Given the description of an element on the screen output the (x, y) to click on. 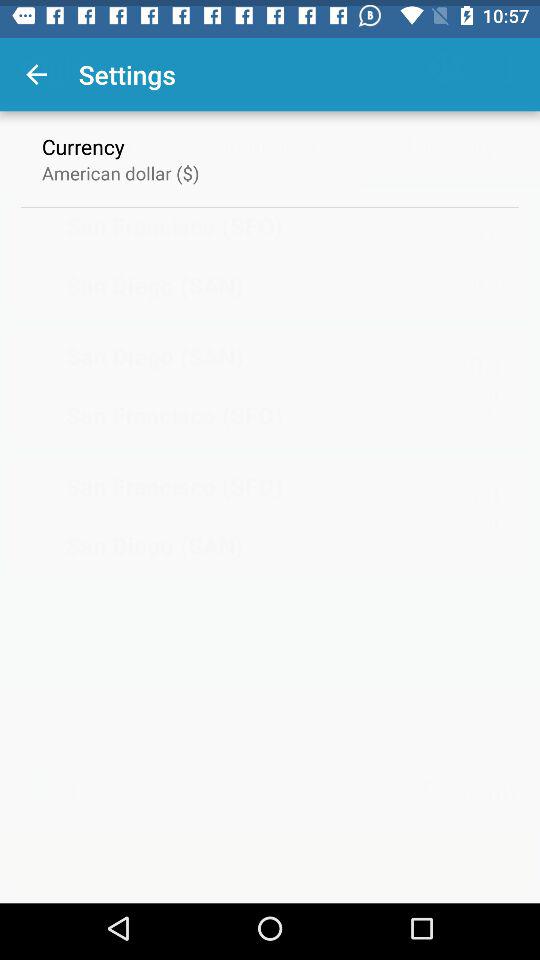
launch the icon next to the settings app (36, 68)
